Given the description of an element on the screen output the (x, y) to click on. 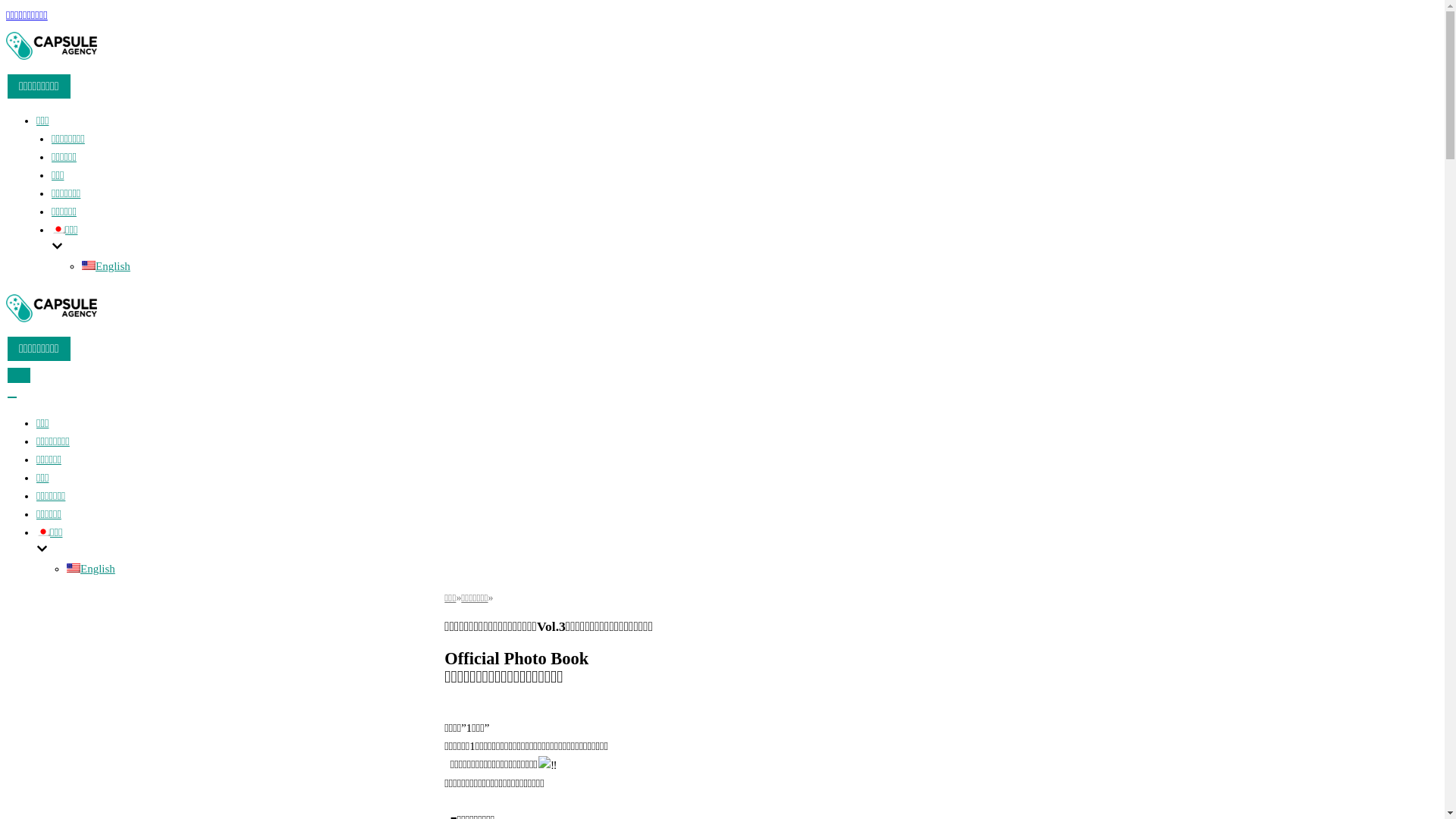
English Element type: hover (73, 567)
English Element type: text (105, 266)
English Element type: text (90, 568)
English Element type: hover (88, 264)
